Given the description of an element on the screen output the (x, y) to click on. 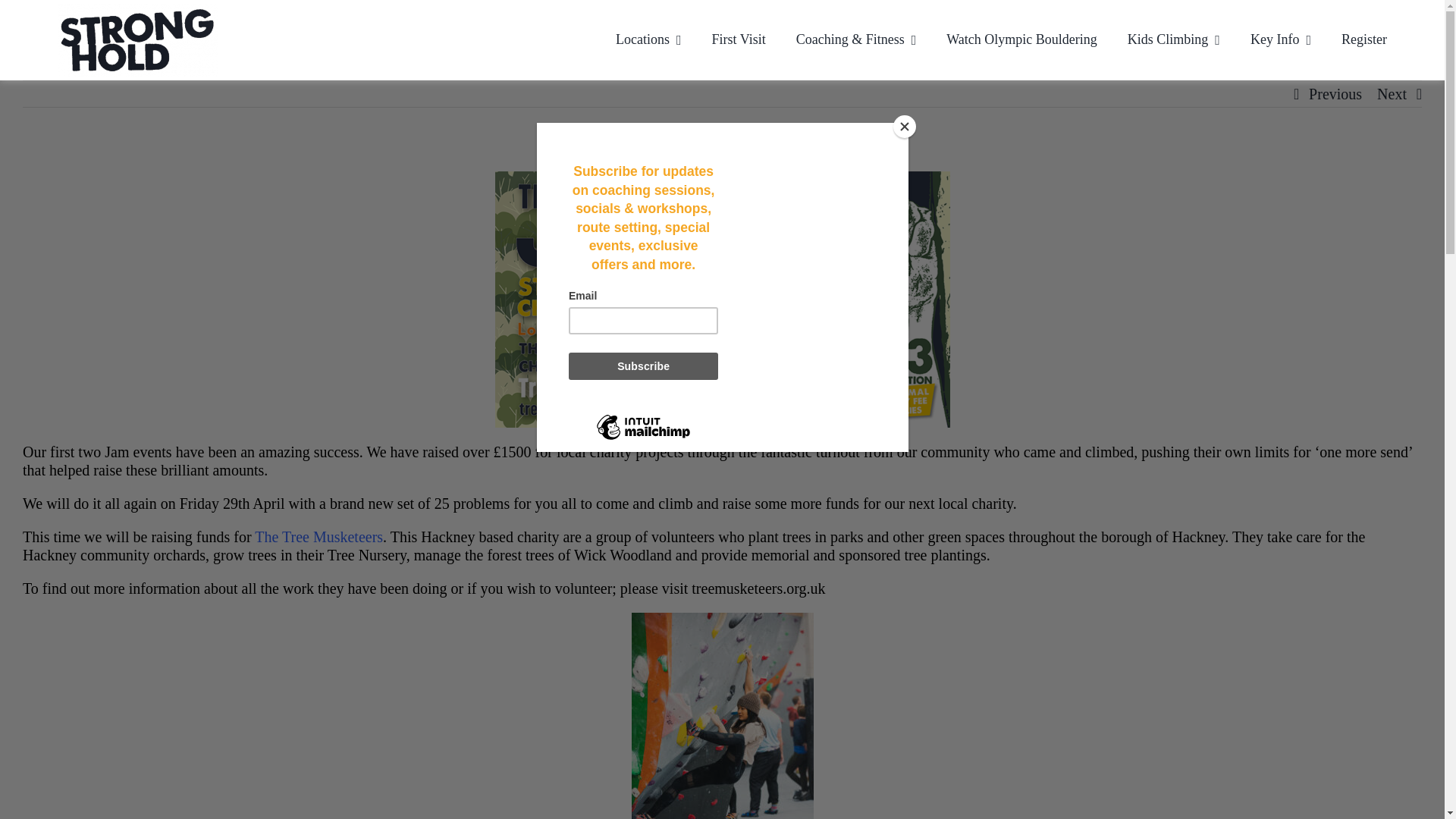
Register (1363, 39)
Watch Olympic Bouldering (1021, 39)
First Visit (738, 39)
Locations (648, 39)
Previous (1334, 94)
Kids Climbing (1173, 39)
Key Info (1280, 39)
